Given the description of an element on the screen output the (x, y) to click on. 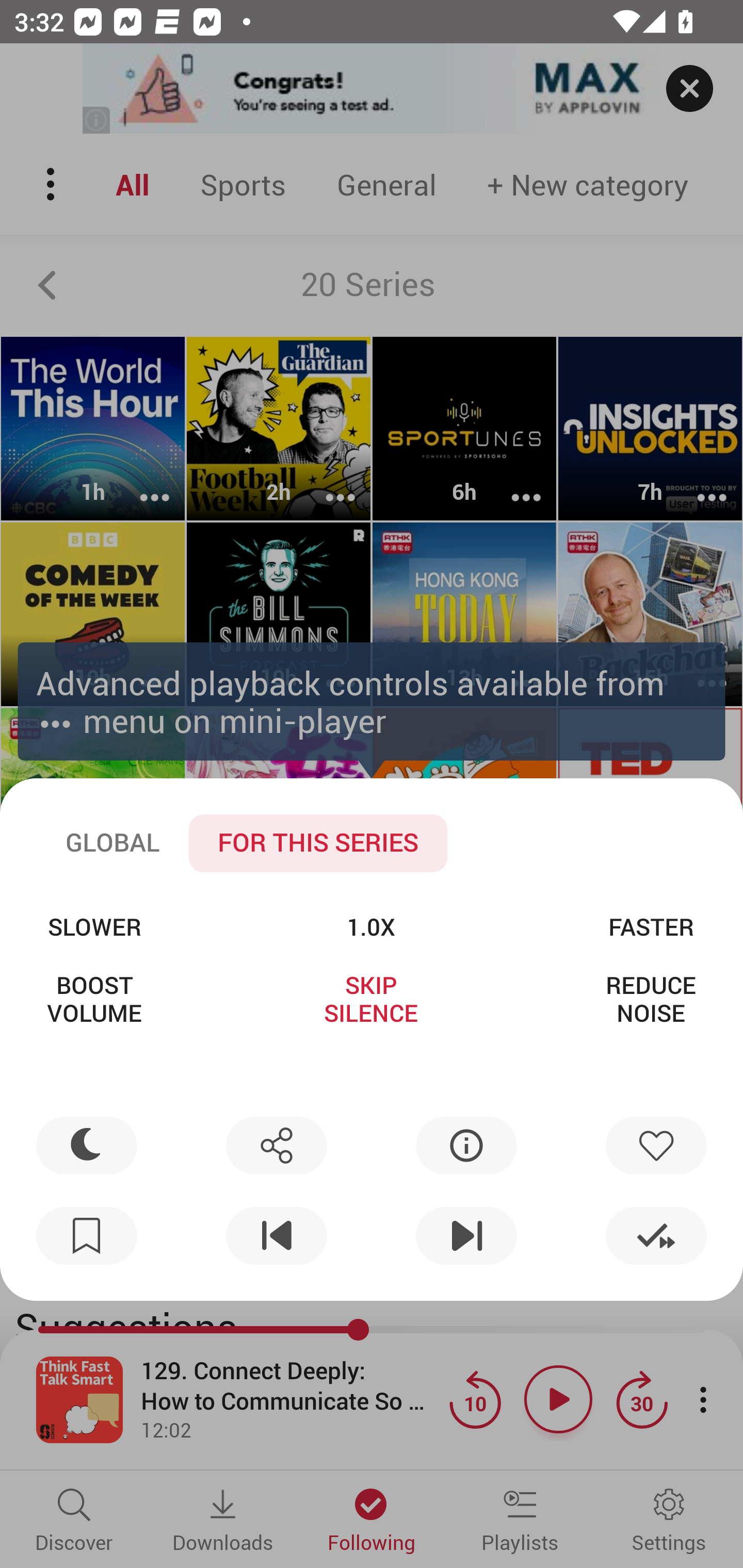
GLOBAL (112, 842)
FOR THIS SERIES (317, 842)
SLOWER (94, 926)
1.0X (370, 926)
FASTER (650, 926)
BOOST
VOLUME (94, 998)
SKIP
SILENCE (370, 998)
REDUCE
NOISE (650, 998)
Sleep timer (86, 1145)
Share (275, 1145)
Info (466, 1145)
Like (655, 1145)
New bookmark … (86, 1236)
Previous (275, 1236)
Next (466, 1236)
Mark played and next (655, 1236)
